Given the description of an element on the screen output the (x, y) to click on. 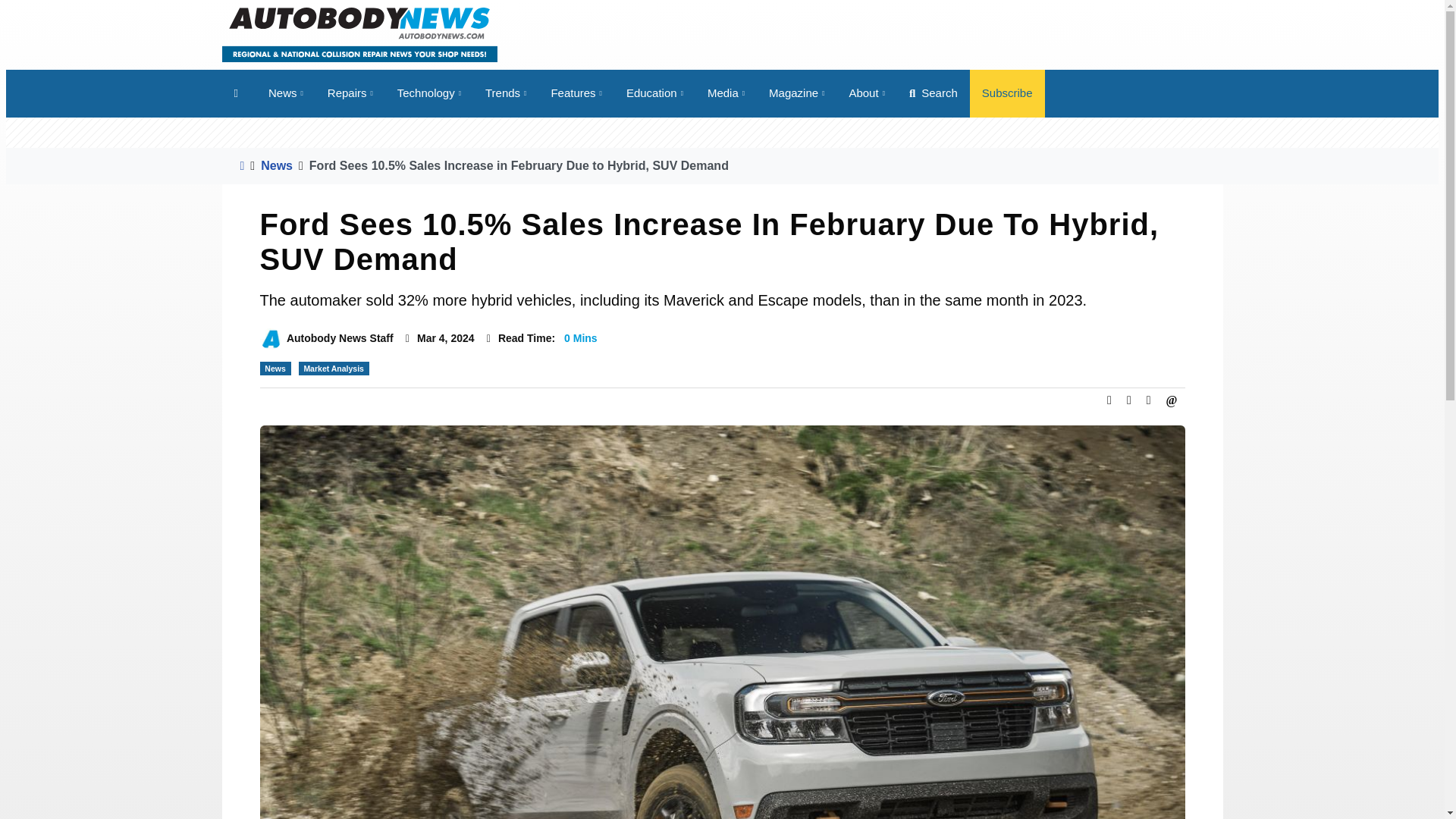
News (285, 93)
Autobody News (358, 33)
Features (576, 93)
Trends (505, 93)
Share This Article on LinkedIn (1148, 399)
Share This Article on Twitter (1128, 399)
Share This Article on Facebook (1109, 399)
Technology (429, 93)
Email This Article (1171, 399)
Estimated time to read (488, 338)
Repairs (350, 93)
